Given the description of an element on the screen output the (x, y) to click on. 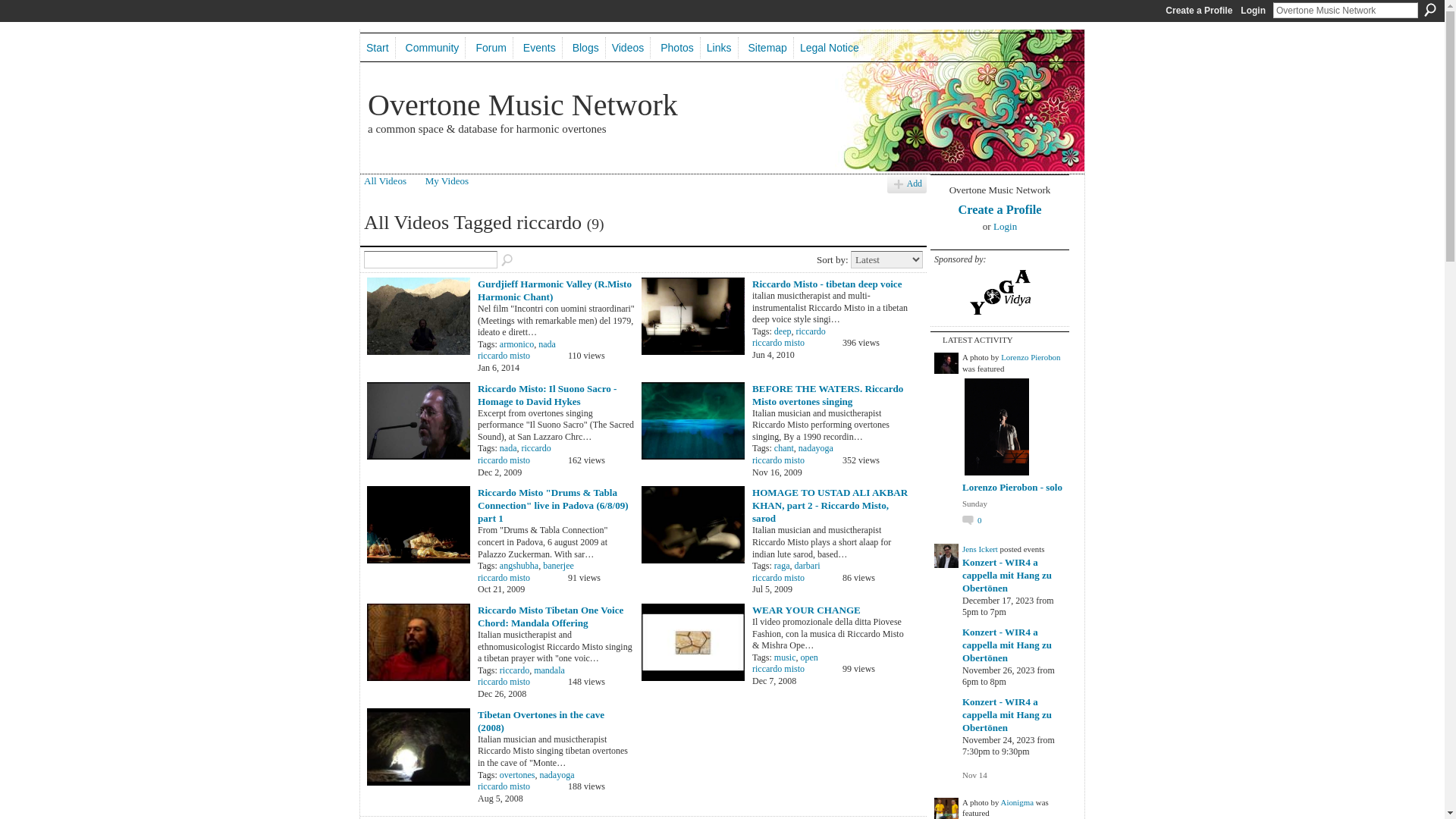
nadayoga Element type: text (556, 774)
0 Element type: text (972, 519)
Sitemap Element type: text (767, 47)
Forum Element type: text (490, 47)
Photos Element type: text (677, 47)
Login Element type: text (1252, 10)
Lorenzo Pierobon - solo Element type: text (1012, 486)
open Element type: text (809, 657)
chant Element type: text (783, 447)
angshubha Element type: text (518, 565)
Riccardo Misto - tibetan deep voice Element type: text (826, 283)
nada Element type: text (508, 447)
Gurdjieff Harmonic Valley (R.Misto Harmonic Chant) Element type: text (554, 290)
Start Element type: text (377, 47)
Search Videos Element type: text (507, 260)
Videos Element type: text (628, 47)
raga Element type: text (782, 565)
My Videos Element type: text (446, 180)
riccardo misto Element type: text (503, 681)
Jens Ickert Element type: text (979, 548)
nada Element type: text (546, 343)
Overtone Music Network Element type: text (522, 104)
music Element type: text (785, 657)
riccardo Element type: text (514, 670)
riccardo Element type: text (535, 447)
mandala Element type: text (548, 670)
Tibetan Overtones in the cave (2008) Element type: text (540, 721)
Lorenzo Pierobon Element type: text (1030, 356)
Legal Notice Element type: text (829, 47)
armonico Element type: text (516, 343)
riccardo misto Element type: text (778, 577)
riccardo misto Element type: text (503, 786)
deep Element type: text (782, 331)
riccardo misto Element type: text (503, 460)
Riccardo Misto Tibetan One Voice Chord: Mandala Offering Element type: text (550, 616)
WEAR YOUR CHANGE Element type: text (806, 609)
riccardo misto Element type: text (778, 668)
Add Element type: text (906, 184)
All Videos Element type: text (385, 180)
Search Element type: text (1430, 9)
nadayoga Element type: text (815, 447)
riccardo misto Element type: text (503, 577)
Community Element type: text (432, 47)
darbari Element type: text (806, 565)
overtones Element type: text (517, 774)
Riccardo Misto: Il Suono Sacro - Homage to David Hykes Element type: text (546, 394)
Blogs Element type: text (585, 47)
riccardo misto Element type: text (503, 355)
riccardo misto Element type: text (778, 342)
Login Element type: text (1004, 226)
riccardo misto Element type: text (778, 460)
Aionigma Element type: text (1017, 801)
Create a Profile Element type: text (1198, 10)
banerjee Element type: text (558, 565)
BEFORE THE WATERS. Riccardo Misto overtones singing Element type: text (827, 394)
Links Element type: text (719, 47)
riccardo Element type: text (810, 331)
Events Element type: text (539, 47)
Create a Profile Element type: text (999, 209)
